Given the description of an element on the screen output the (x, y) to click on. 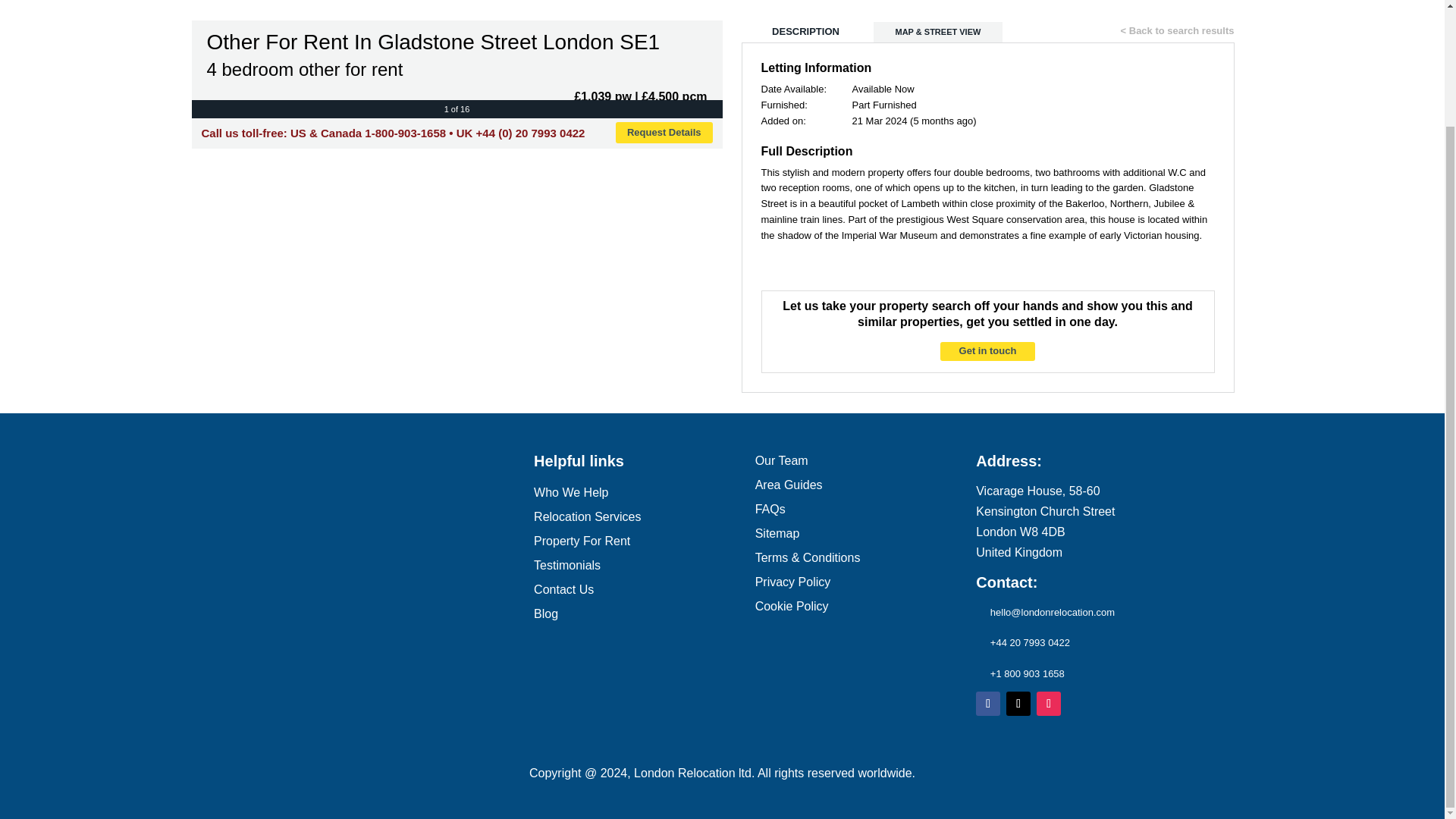
Follow on X (1018, 703)
Follow on Instagram (1048, 703)
Follow on Facebook (987, 703)
